Given the description of an element on the screen output the (x, y) to click on. 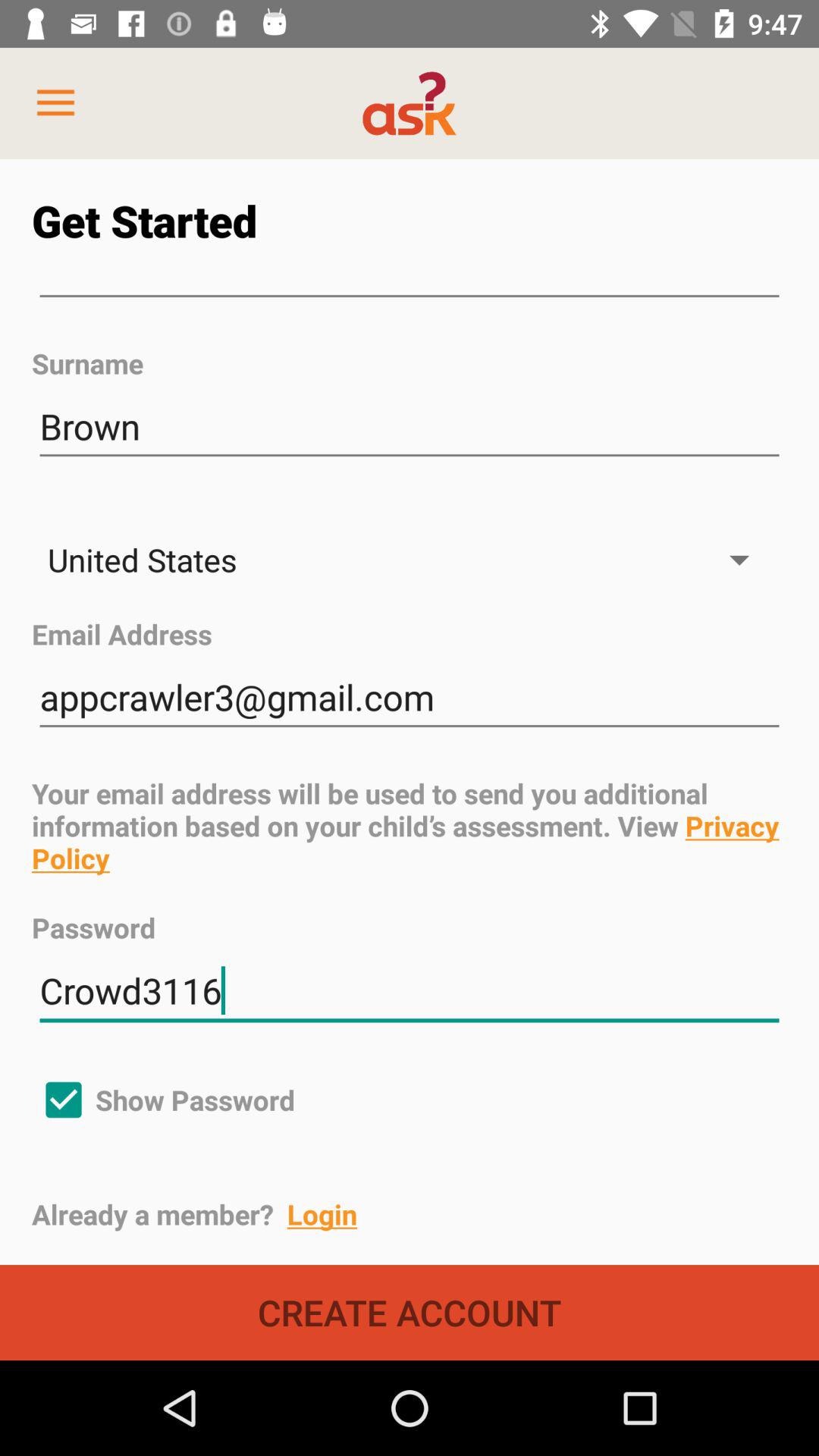
tap the item above united states (409, 427)
